Given the description of an element on the screen output the (x, y) to click on. 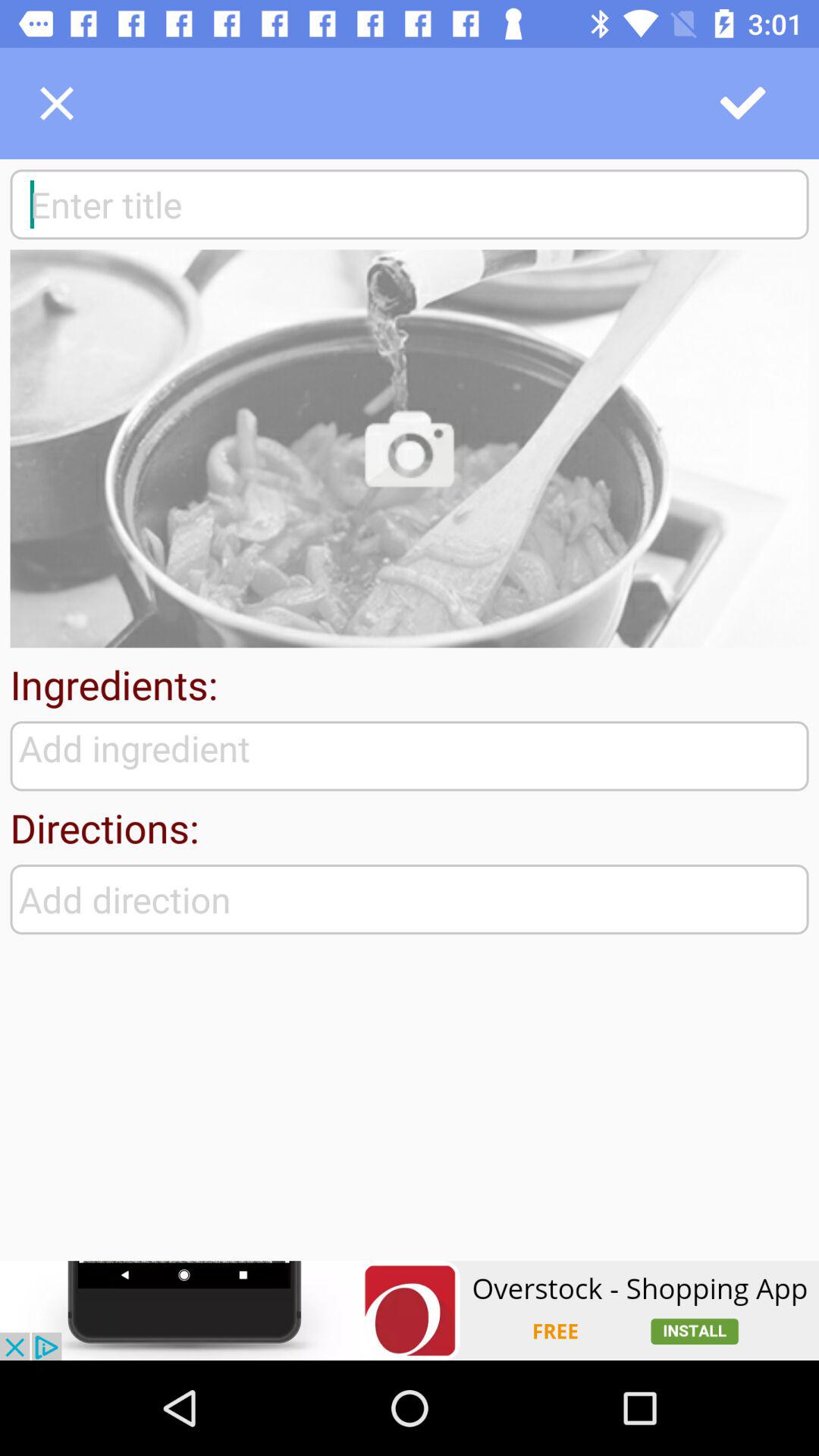
enter the name option (409, 204)
